Given the description of an element on the screen output the (x, y) to click on. 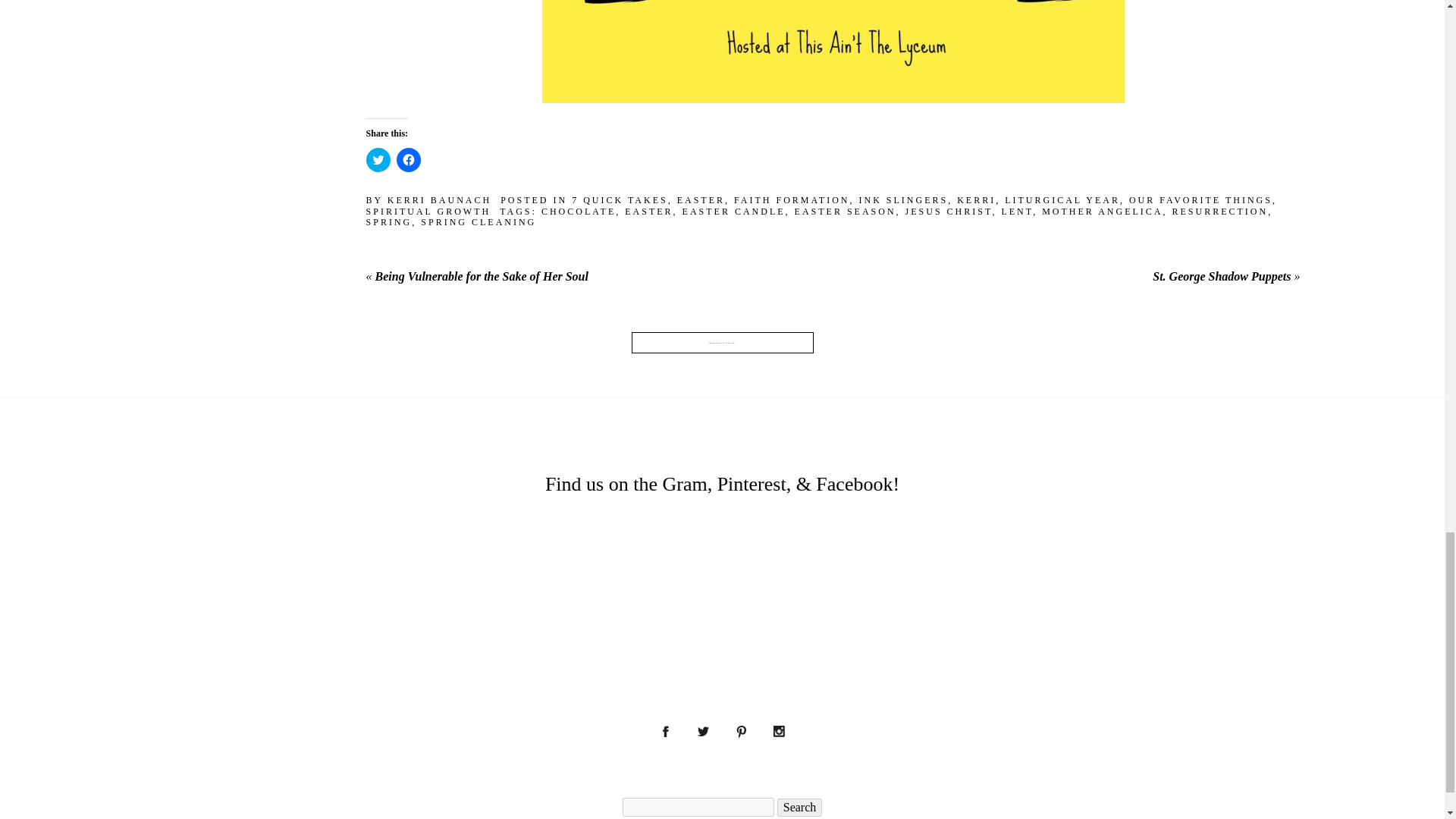
INK SLINGERS (903, 199)
Click to share on Facebook (408, 159)
7 QUICK TAKES (620, 199)
KERRI (975, 199)
OUR FAVORITE THINGS (1200, 199)
KERRI BAUNACH (439, 199)
CHOCOLATE (578, 211)
Search (799, 807)
Click to share on Twitter (378, 159)
SPIRITUAL GROWTH (429, 211)
EASTER (701, 199)
FAITH FORMATION (790, 199)
LITURGICAL YEAR (1061, 199)
